Given the description of an element on the screen output the (x, y) to click on. 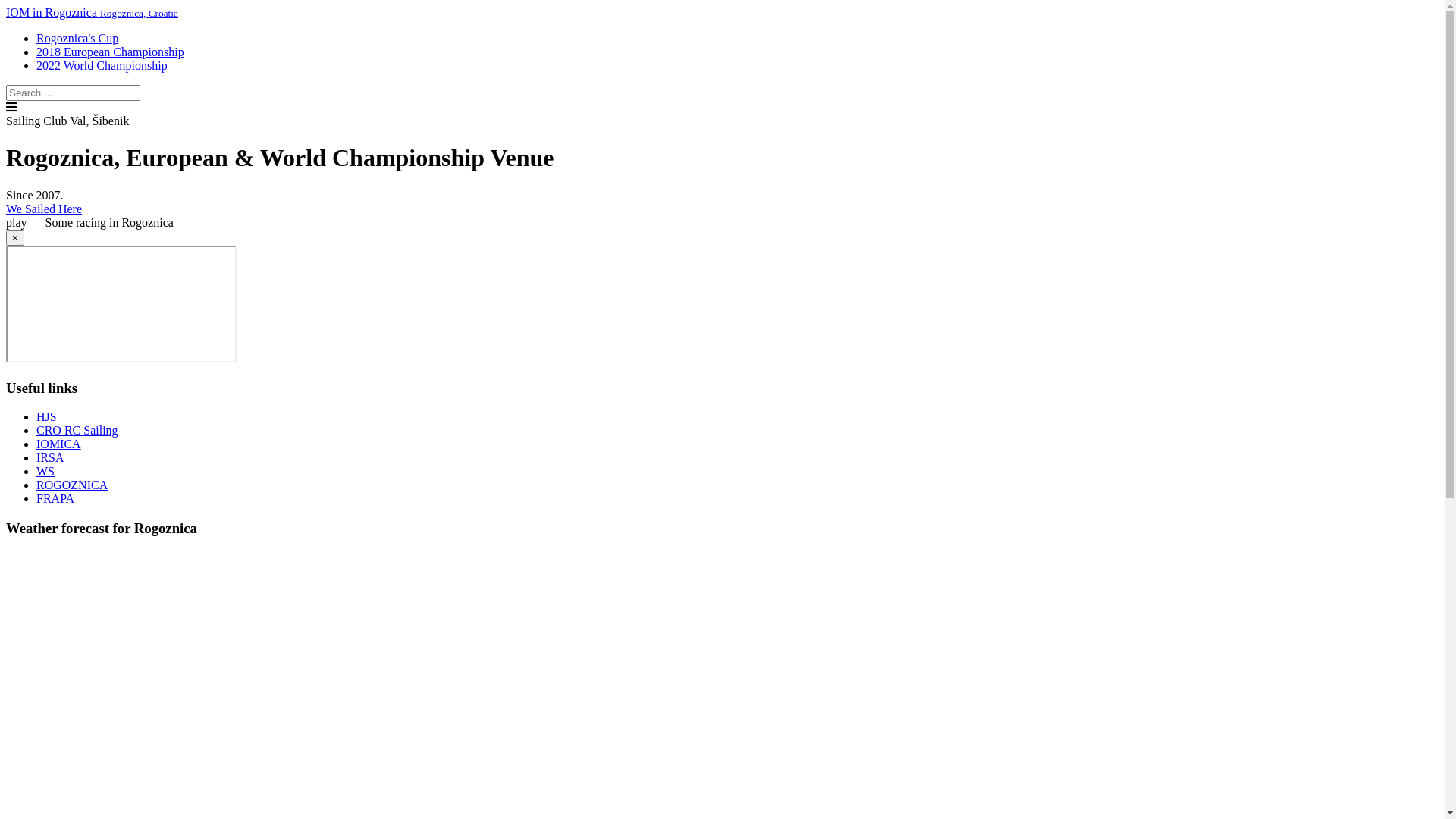
CRO RC Sailing Element type: text (77, 429)
play Element type: text (25, 222)
ROGOZNICA Element type: text (71, 484)
FRAPA Element type: text (55, 498)
HJS Element type: text (46, 416)
Rogoznica's Cup Element type: text (77, 37)
IOMICA Element type: text (58, 443)
We Sailed Here Element type: text (43, 208)
2018 European Championship Element type: text (110, 51)
WS Element type: text (45, 470)
IRSA Element type: text (49, 457)
2022 World Championship Element type: text (101, 65)
IOM in Rogoznica Rogoznica, Croatia Element type: text (92, 12)
